Given the description of an element on the screen output the (x, y) to click on. 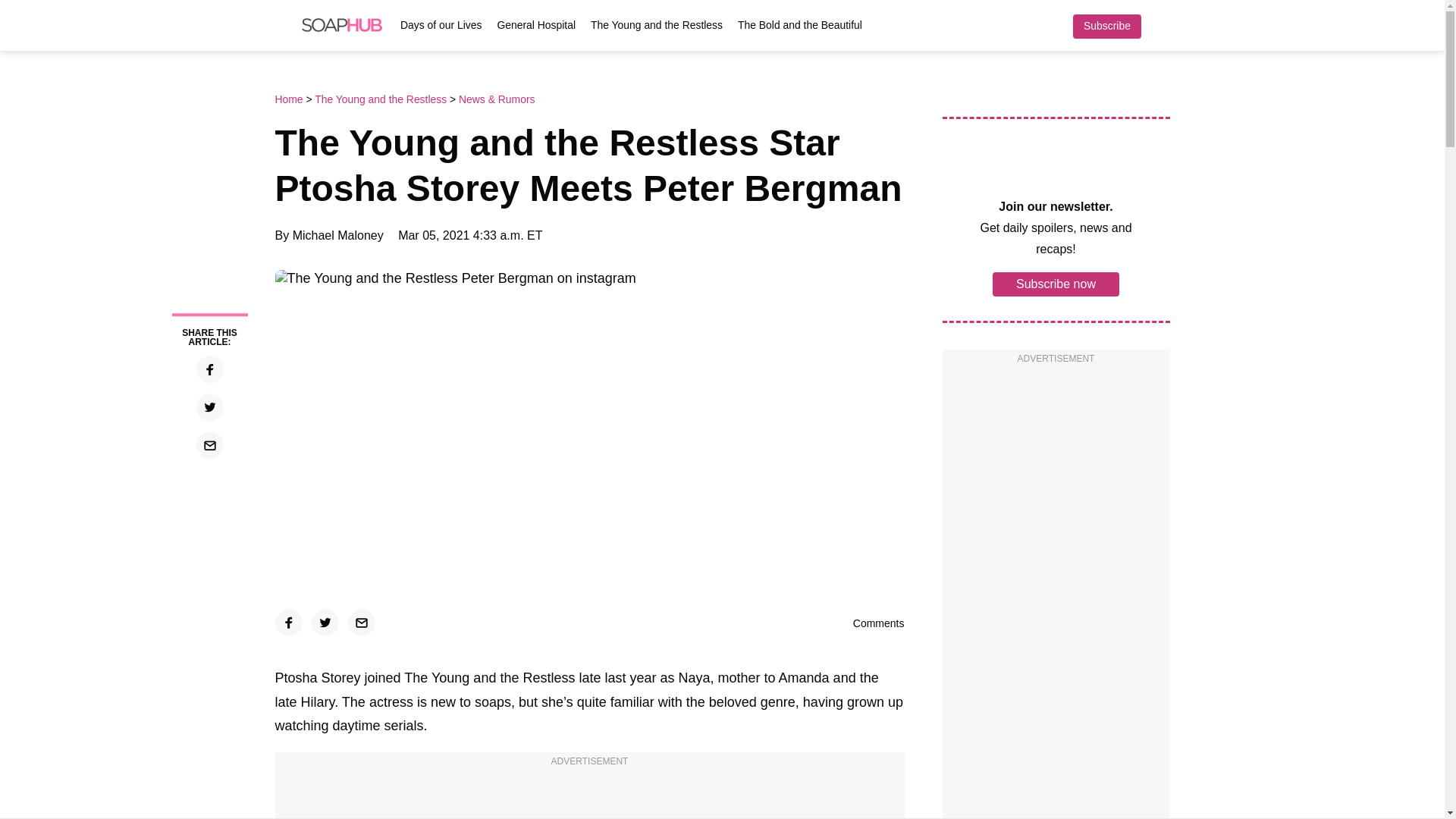
Click to share on Facebook (208, 369)
Click to share on Twitter (208, 406)
Click to email a link to a friend (208, 444)
Click to share on Twitter (324, 622)
Subscribe (1105, 26)
Days of our Lives (441, 24)
Home (290, 99)
Search (1161, 26)
Click to share on Facebook (288, 622)
The Bold and the Beautiful (799, 24)
Subscribe now (1055, 283)
General Hospital (536, 24)
Michael Maloney (338, 235)
The Young and the Restless (656, 24)
Click to email a link to a friend (360, 622)
